Given the description of an element on the screen output the (x, y) to click on. 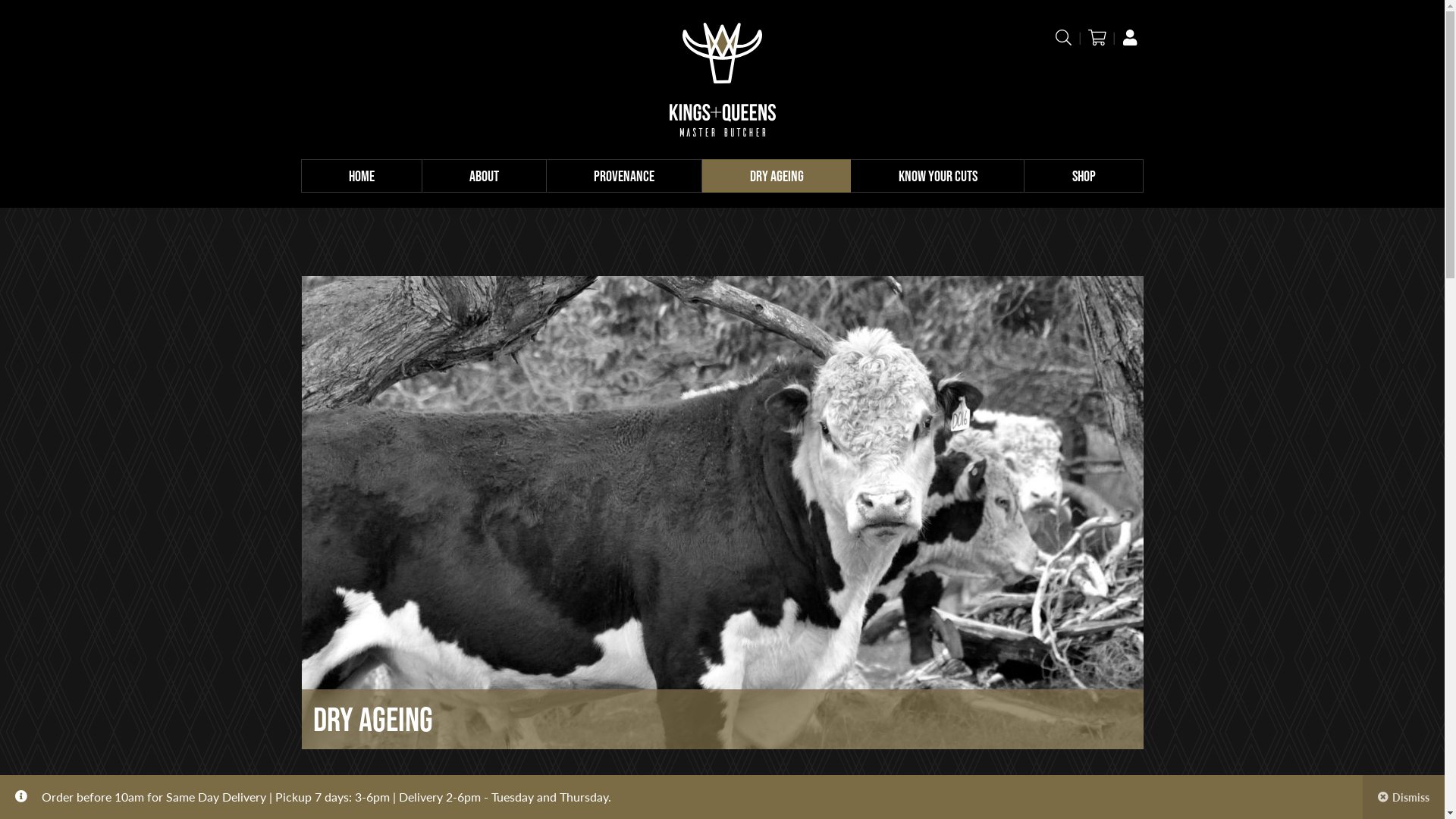
SHOP Element type: text (1083, 175)
HOME Element type: text (360, 175)
DRY AGEING Element type: text (776, 175)
Kings + Queens | Master Butcher - My Account Element type: hover (1129, 36)
KNOW YOUR CUTS Element type: text (937, 175)
Kings + Queens | Master Butcher - Home Element type: hover (721, 79)
Kings + Queens | Master Butcher - Search Element type: hover (1063, 36)
PROVENANCE Element type: text (624, 175)
Kings + Queens | Master Butcher - View Your Cart Element type: hover (1096, 36)
ABOUT Element type: text (484, 175)
